Given the description of an element on the screen output the (x, y) to click on. 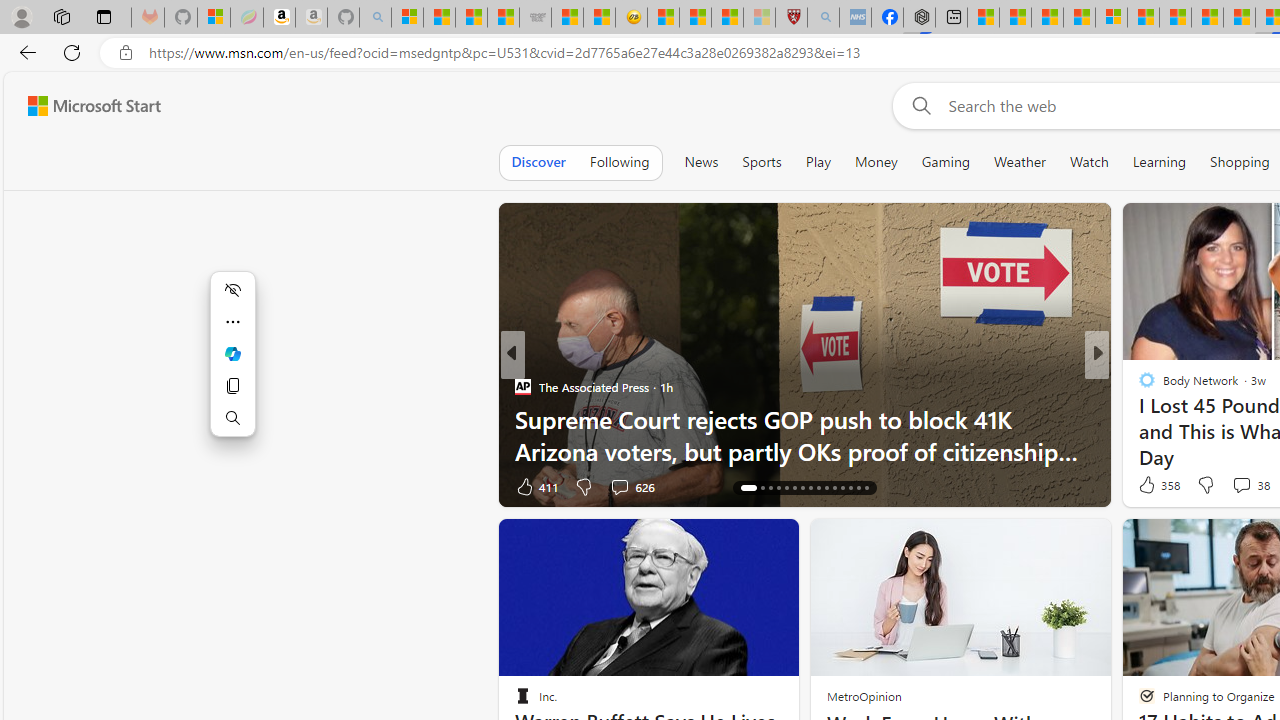
AutomationID: tab-21 (793, 487)
AutomationID: tab-28 (850, 487)
View comments 626 Comment (632, 486)
AutomationID: tab-16 (748, 487)
View comments 23 Comment (1234, 485)
View comments 64 Comment (1234, 485)
67 Like (1149, 486)
